Given the description of an element on the screen output the (x, y) to click on. 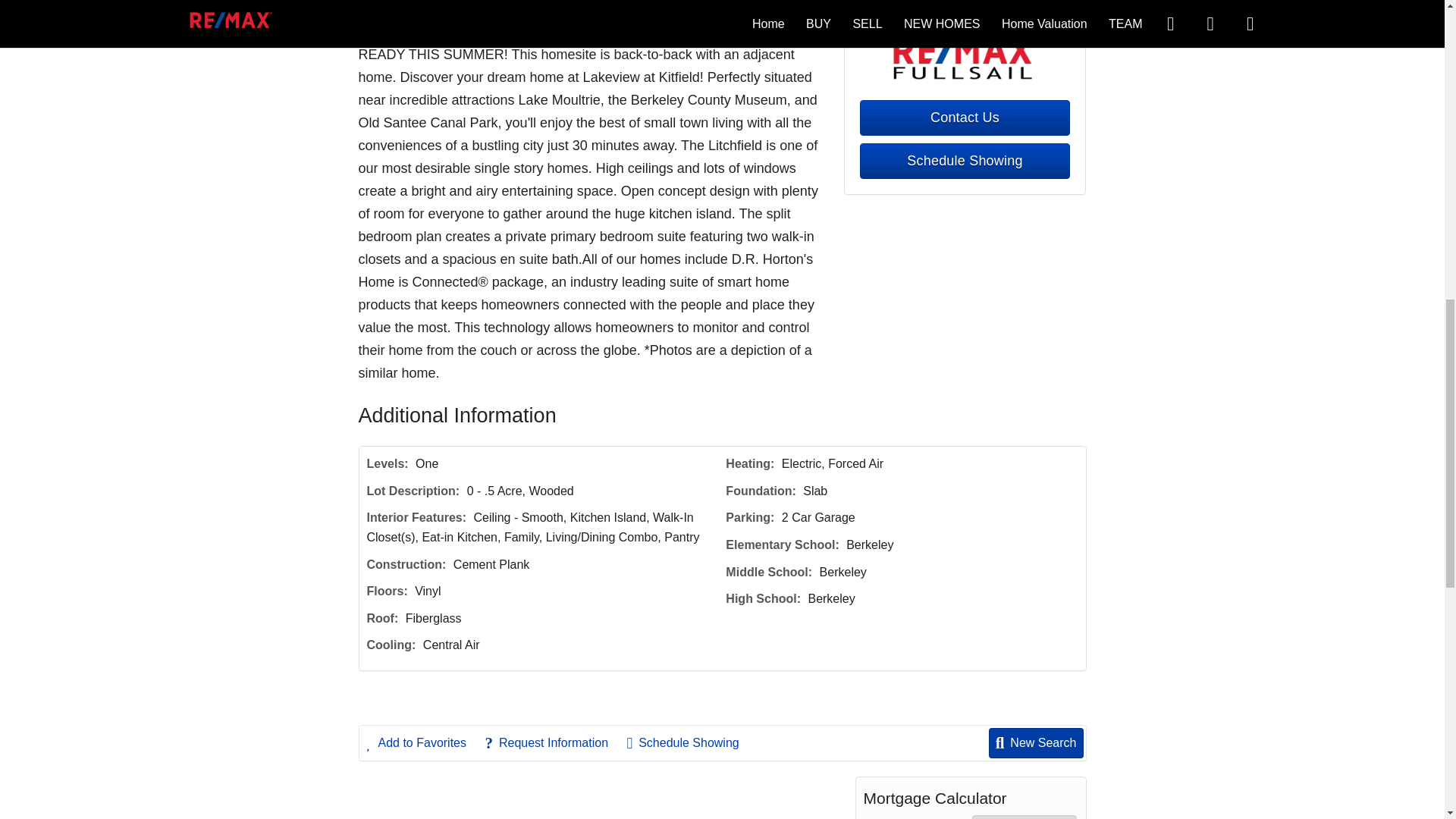
385585 (1024, 816)
Schedule Showing (965, 161)
Contact Us (965, 117)
